Given the description of an element on the screen output the (x, y) to click on. 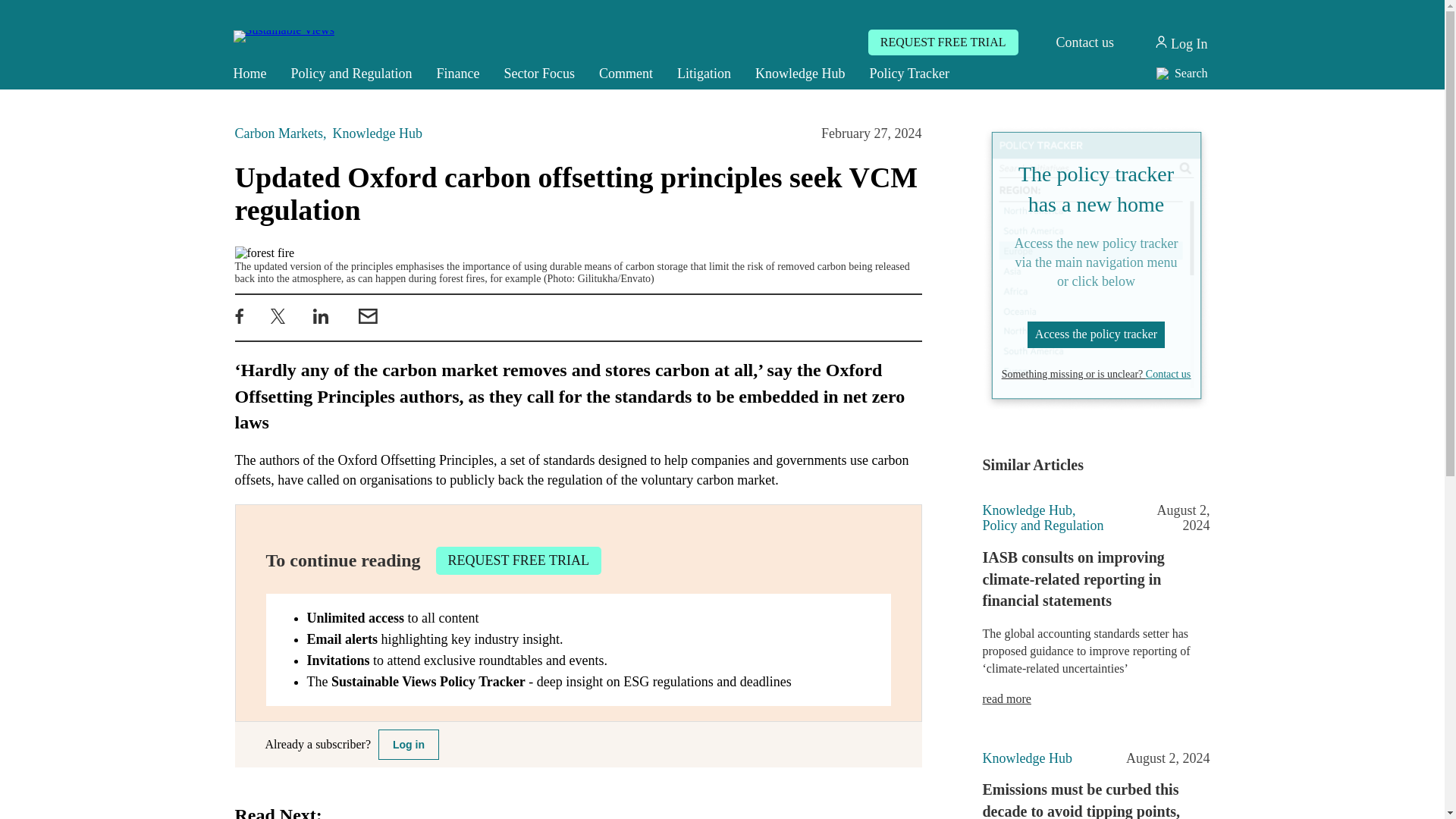
Contact us (1084, 42)
REQUEST FREE TRIAL (942, 42)
Home (250, 73)
Log In (1179, 42)
Policy and Regulation (352, 73)
